Given the description of an element on the screen output the (x, y) to click on. 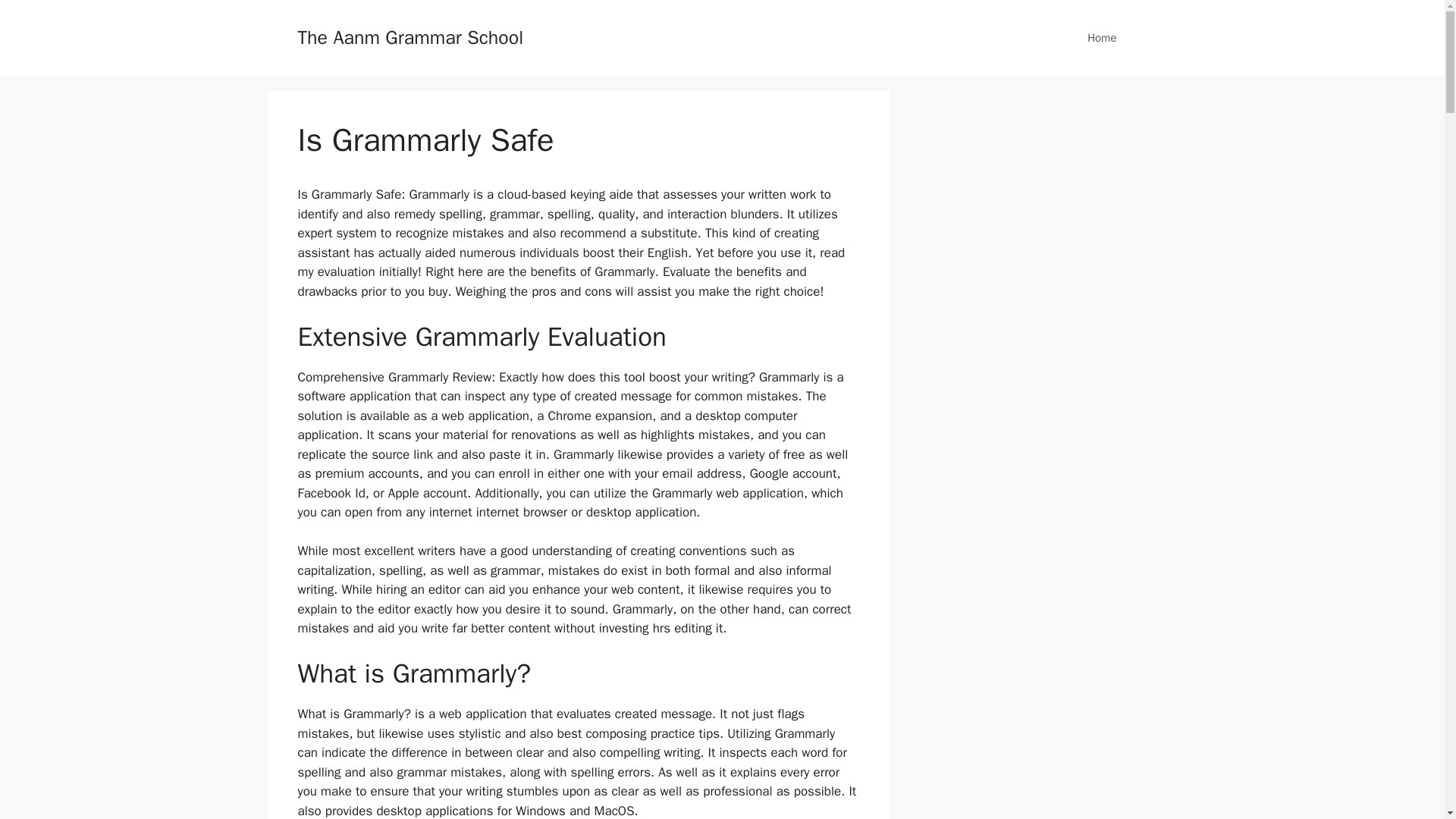
Home (1101, 37)
The Aanm Grammar School (409, 37)
